Given the description of an element on the screen output the (x, y) to click on. 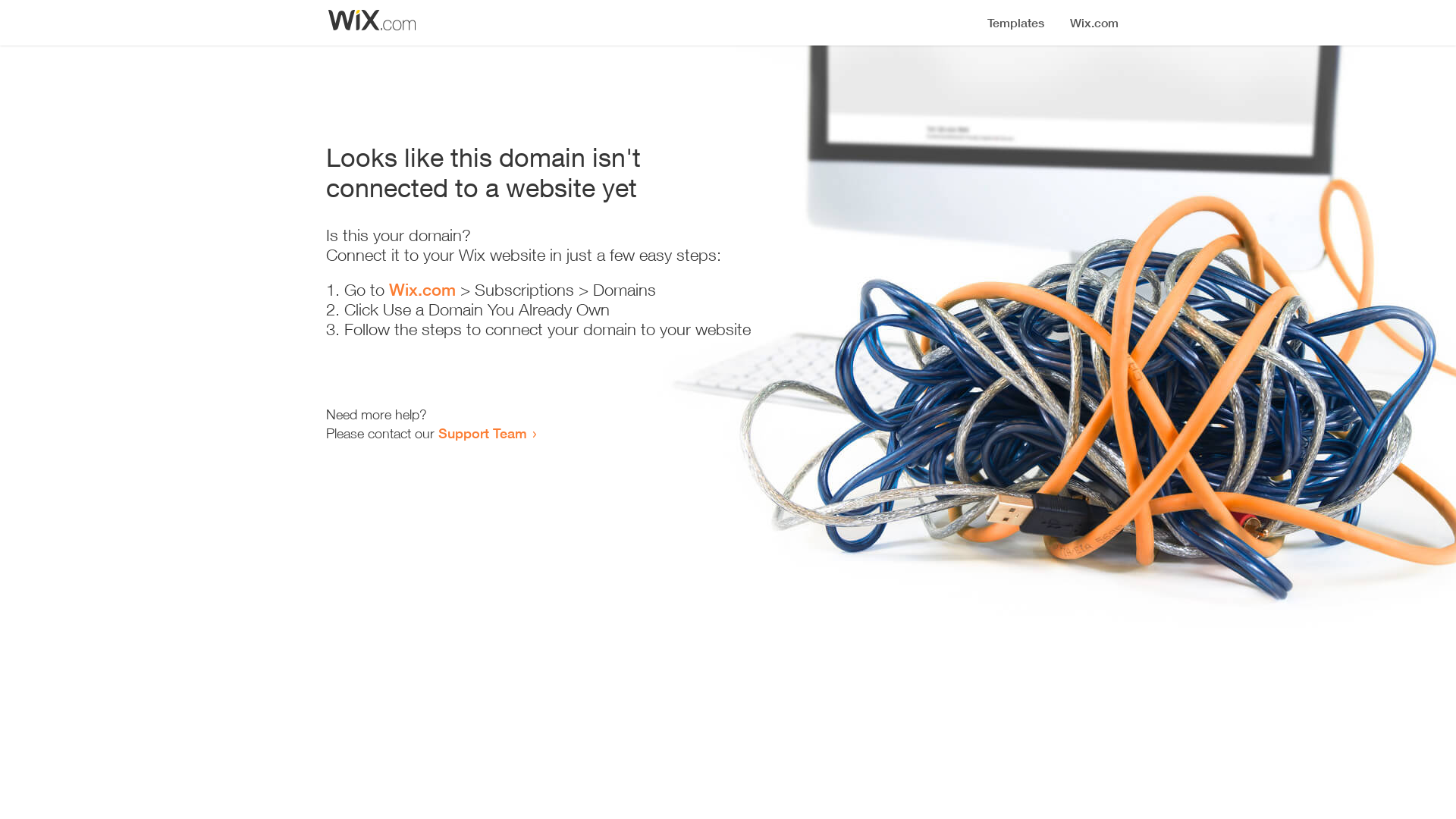
Support Team Element type: text (482, 432)
Wix.com Element type: text (422, 289)
